Given the description of an element on the screen output the (x, y) to click on. 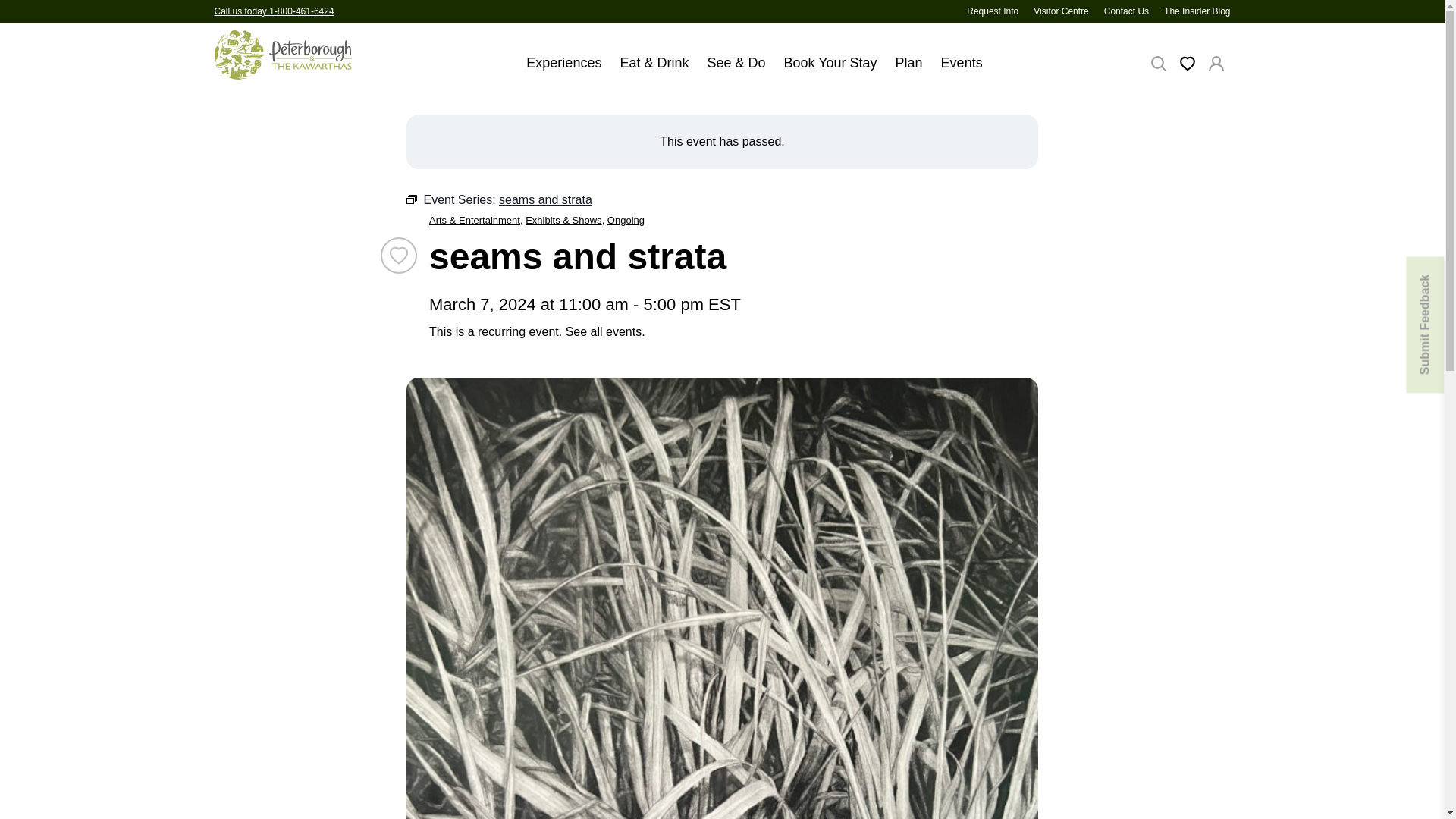
Experiences (563, 69)
Request Info (991, 11)
Call us today 1-800-461-6424 (273, 10)
Event Series (411, 198)
Contact Us (1125, 11)
Visitor Centre (1060, 11)
Skip to content (12, 12)
The Insider Blog (1196, 11)
